Given the description of an element on the screen output the (x, y) to click on. 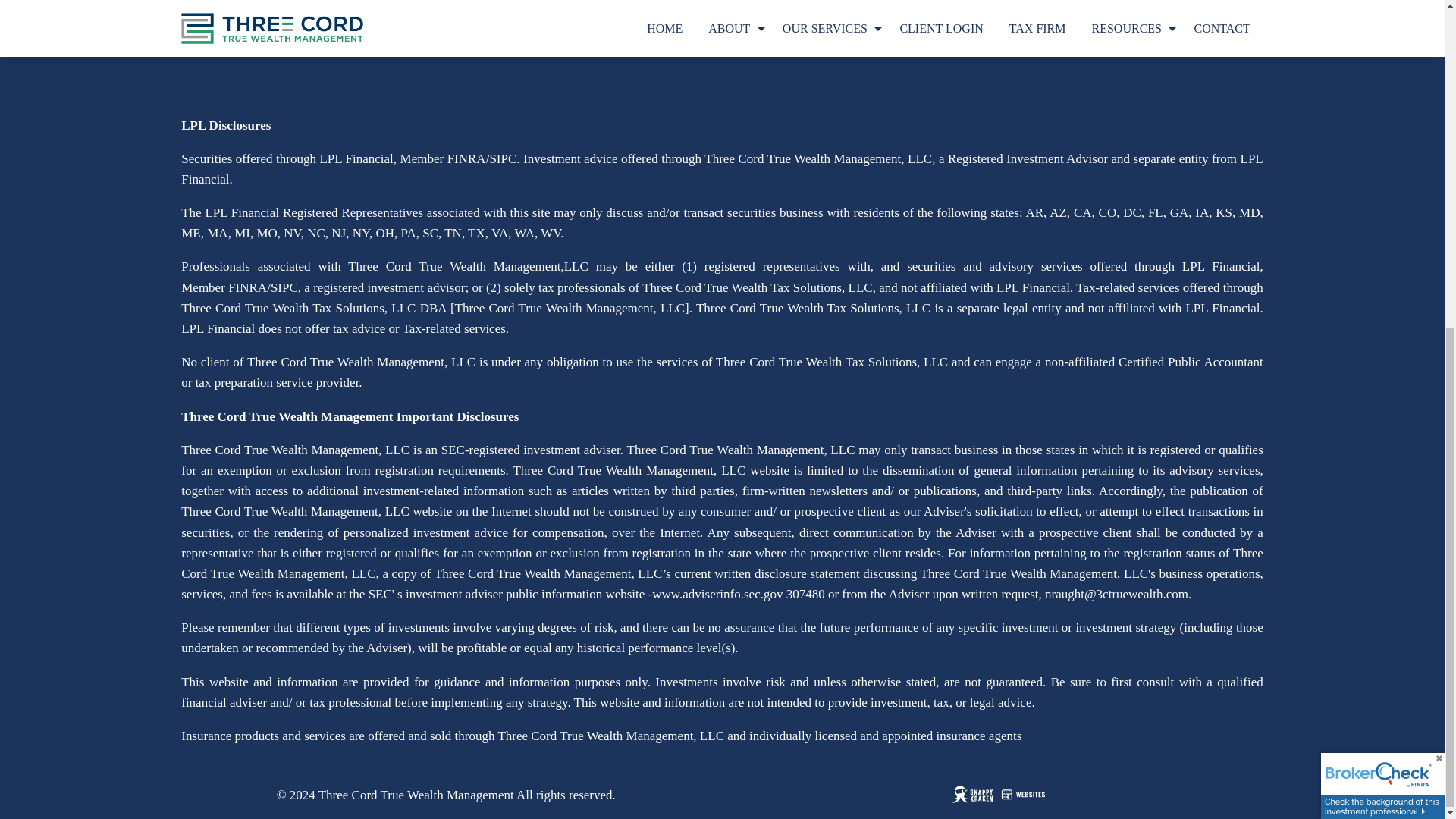
FINRA (247, 287)
SIPC (284, 287)
FINRA (466, 159)
724-683-3450 (867, 4)
SIPC (502, 159)
